Given the description of an element on the screen output the (x, y) to click on. 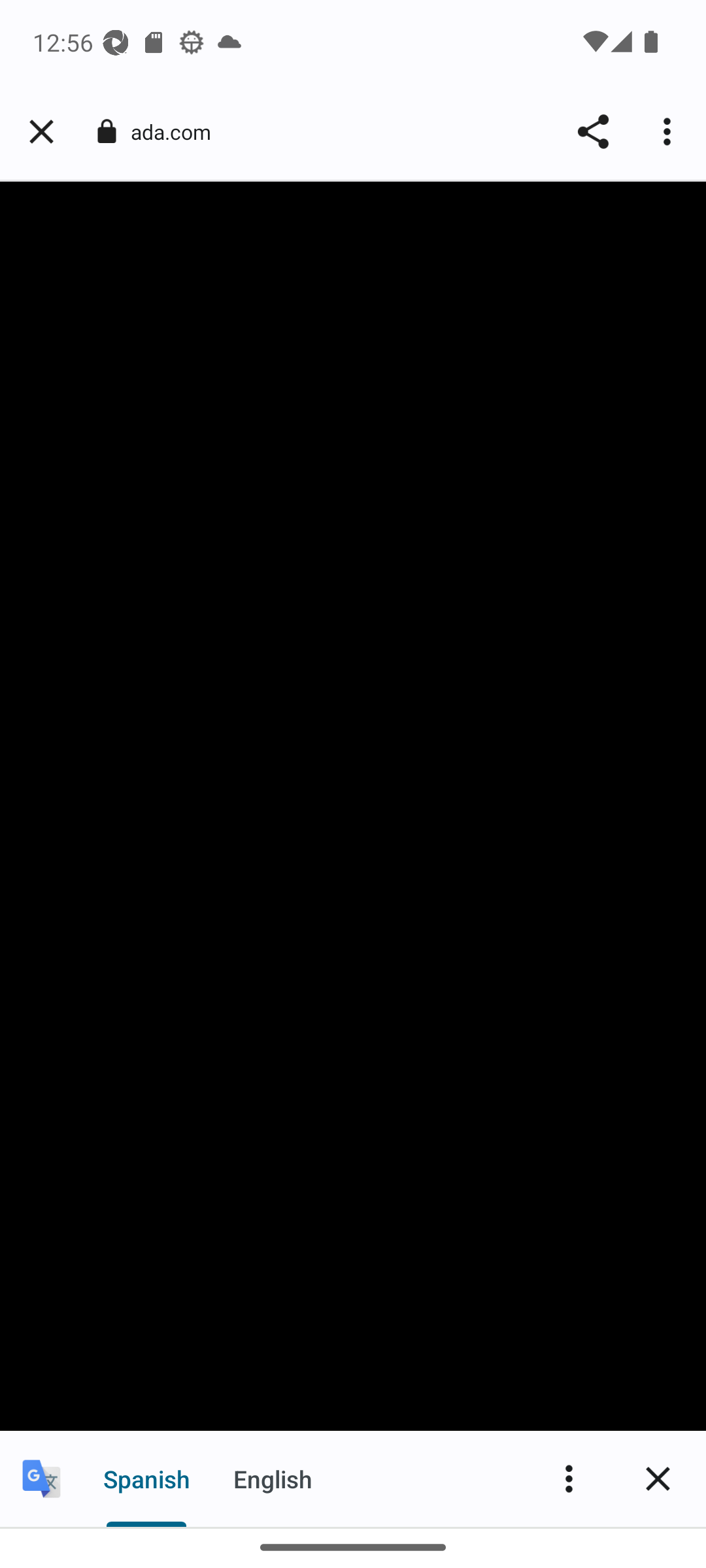
Close tab (41, 131)
Share (592, 131)
More options (669, 131)
Connection is secure (106, 131)
ada.com (177, 131)
English (272, 1478)
More options (568, 1478)
Close (657, 1478)
